Given the description of an element on the screen output the (x, y) to click on. 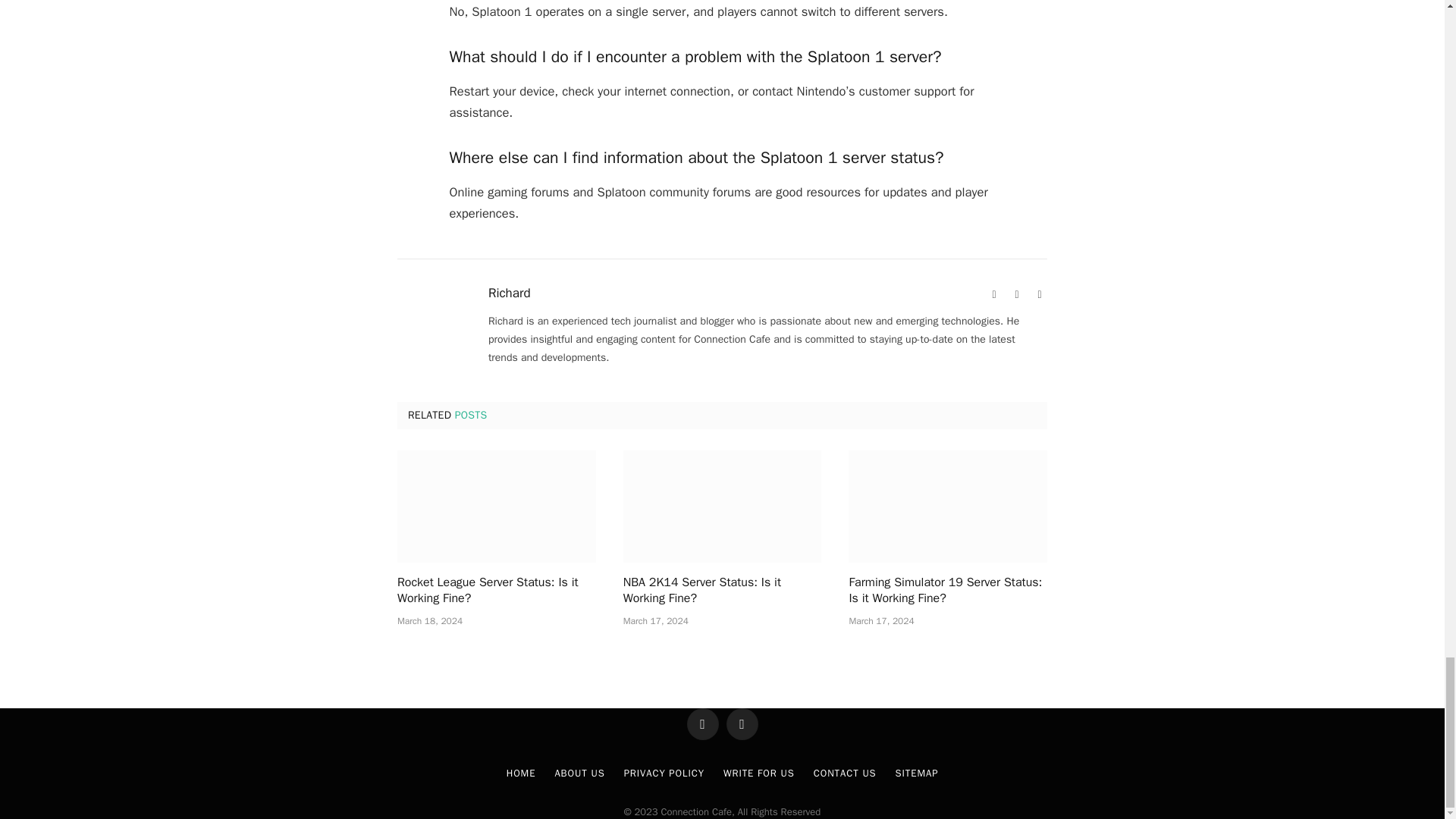
Website (994, 294)
Farming Simulator 19 Server Status: Is it Working Fine? (947, 505)
Posts by Richard (509, 293)
Twitter (1039, 294)
Facebook (1017, 294)
NBA 2K14 Server Status: Is it Working Fine? (722, 505)
Rocket League Server Status: Is it Working Fine? (496, 505)
